Given the description of an element on the screen output the (x, y) to click on. 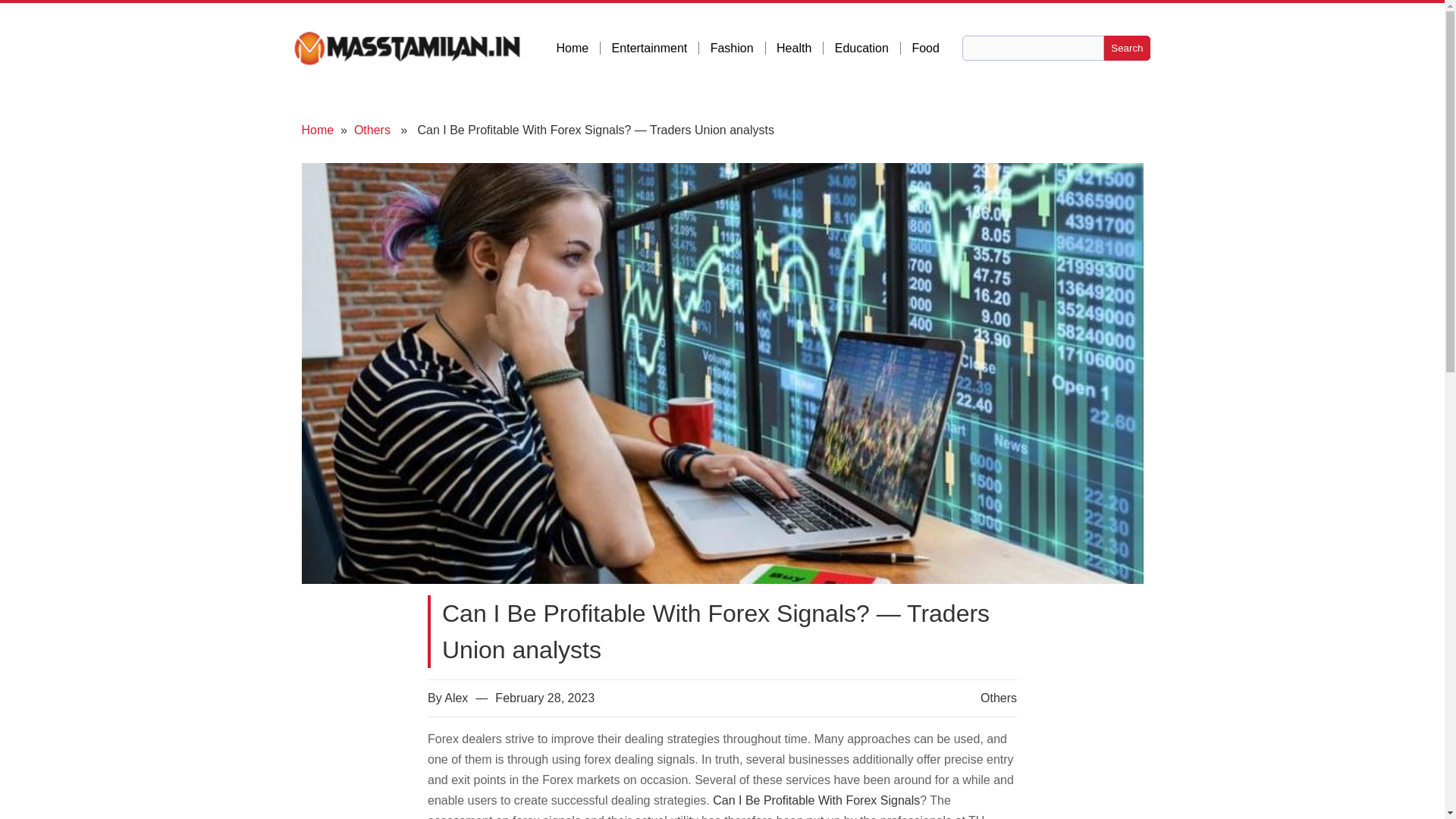
Can I Be Profitable With Forex Signals (816, 799)
Food (925, 47)
Education (867, 47)
Fashion (737, 47)
Others (997, 697)
Home (577, 47)
Search (1126, 48)
Others (371, 129)
Home (317, 129)
Posts by Alex (455, 697)
Alex (455, 697)
Entertainment (655, 47)
Health (800, 47)
Search (1126, 48)
